Given the description of an element on the screen output the (x, y) to click on. 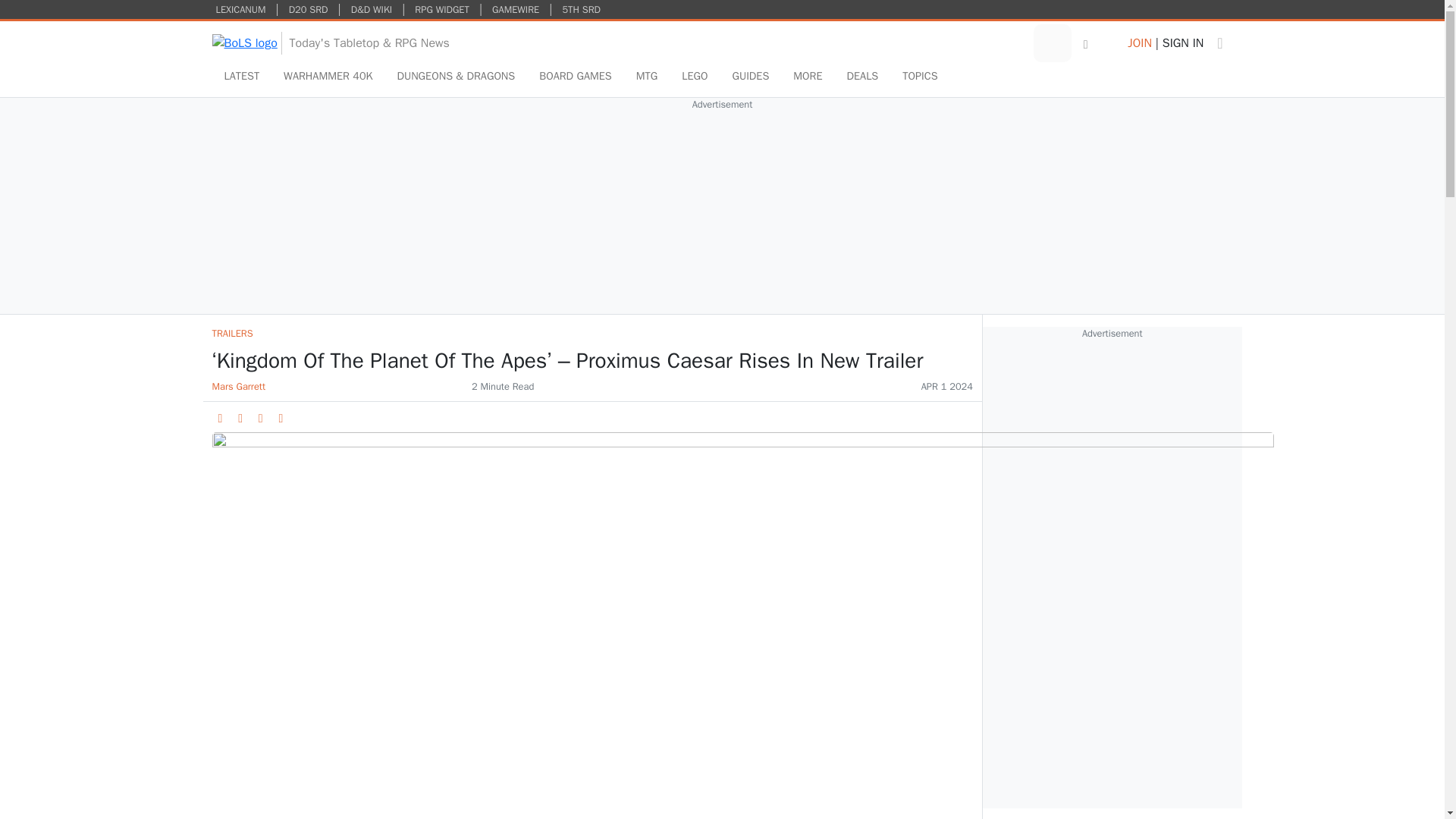
d20 SRD (308, 9)
5th SRD (580, 9)
Warhammer 40k (327, 76)
LEGO (694, 76)
MORE (807, 76)
Lexicanum (240, 9)
MTG (646, 76)
LEXICANUM (240, 9)
RPG Widget (441, 9)
Gamewire (515, 9)
